Given the description of an element on the screen output the (x, y) to click on. 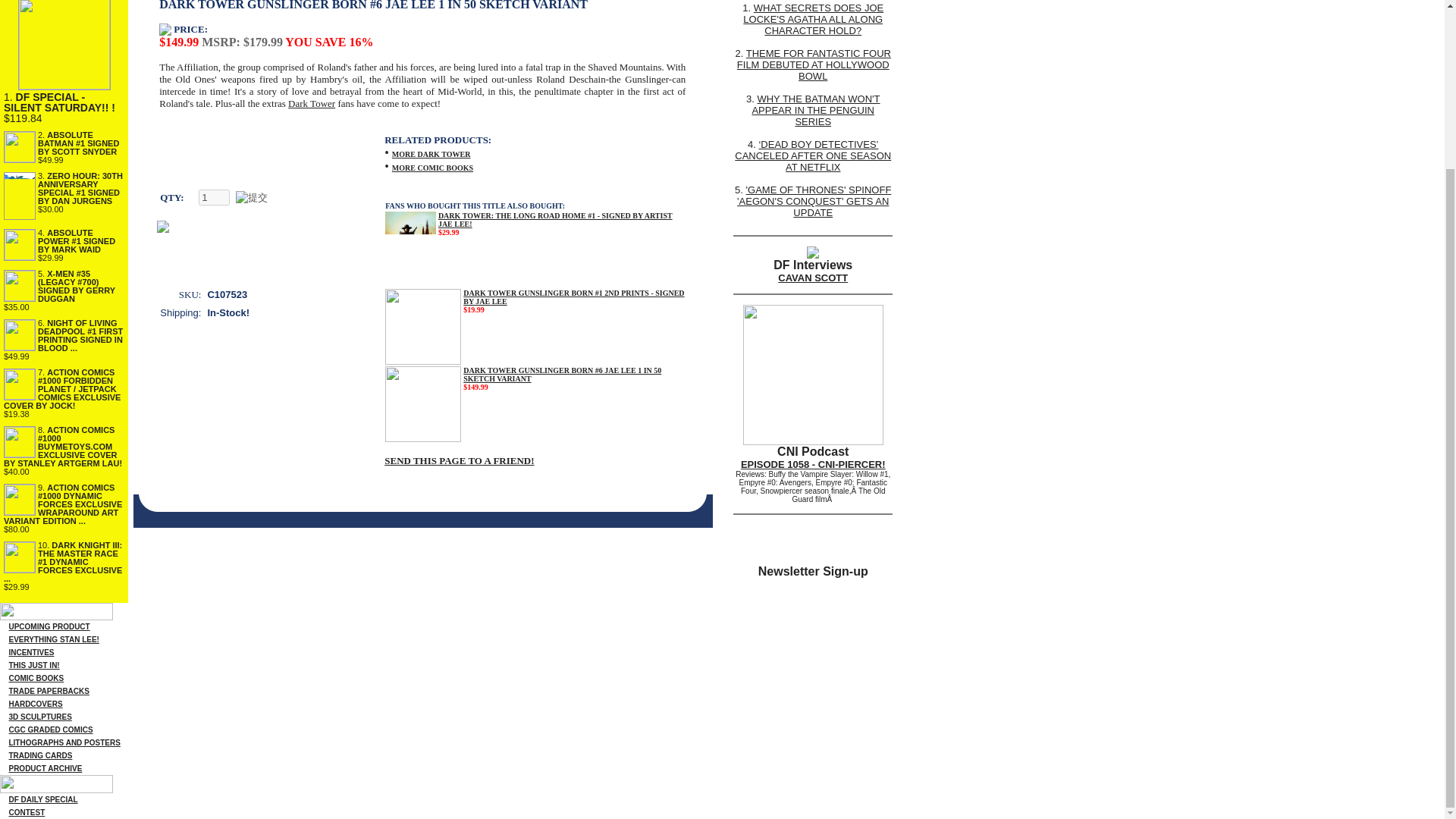
TRADING CARDS (39, 755)
COMIC BOOKS (36, 678)
THIS JUST IN! (33, 664)
PRODUCT ARCHIVE (44, 768)
1 (214, 197)
CONTEST (26, 810)
MORE COMIC BOOKS (432, 165)
TRADE PAPERBACKS (48, 691)
EVERYTHING STAN LEE! (53, 639)
3D SCULPTURES (39, 716)
